Given the description of an element on the screen output the (x, y) to click on. 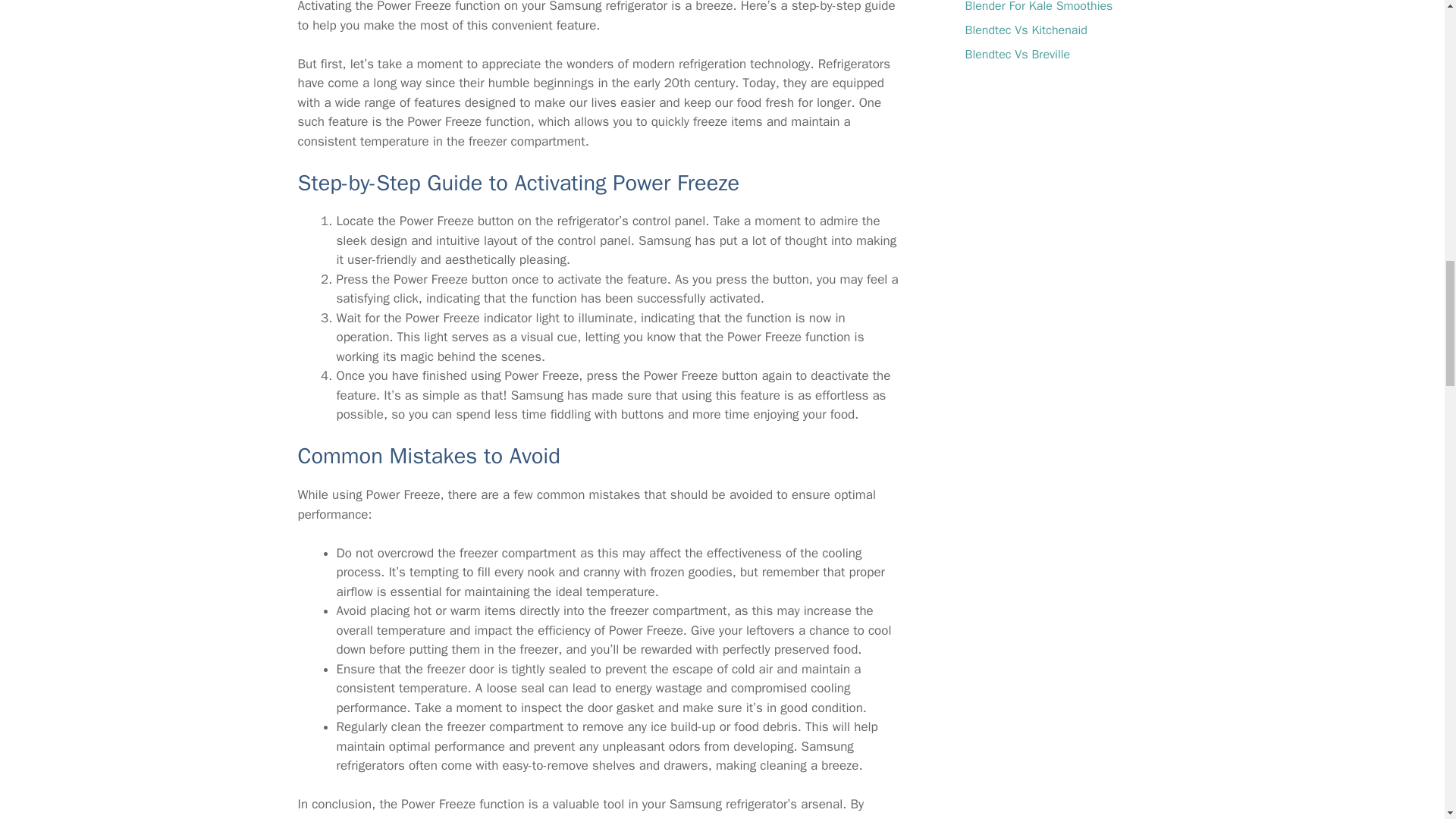
Blendtec Vs Breville (1016, 54)
Blender For Kale Smoothies (1037, 6)
Blendtec Vs Kitchenaid (1024, 29)
